Given the description of an element on the screen output the (x, y) to click on. 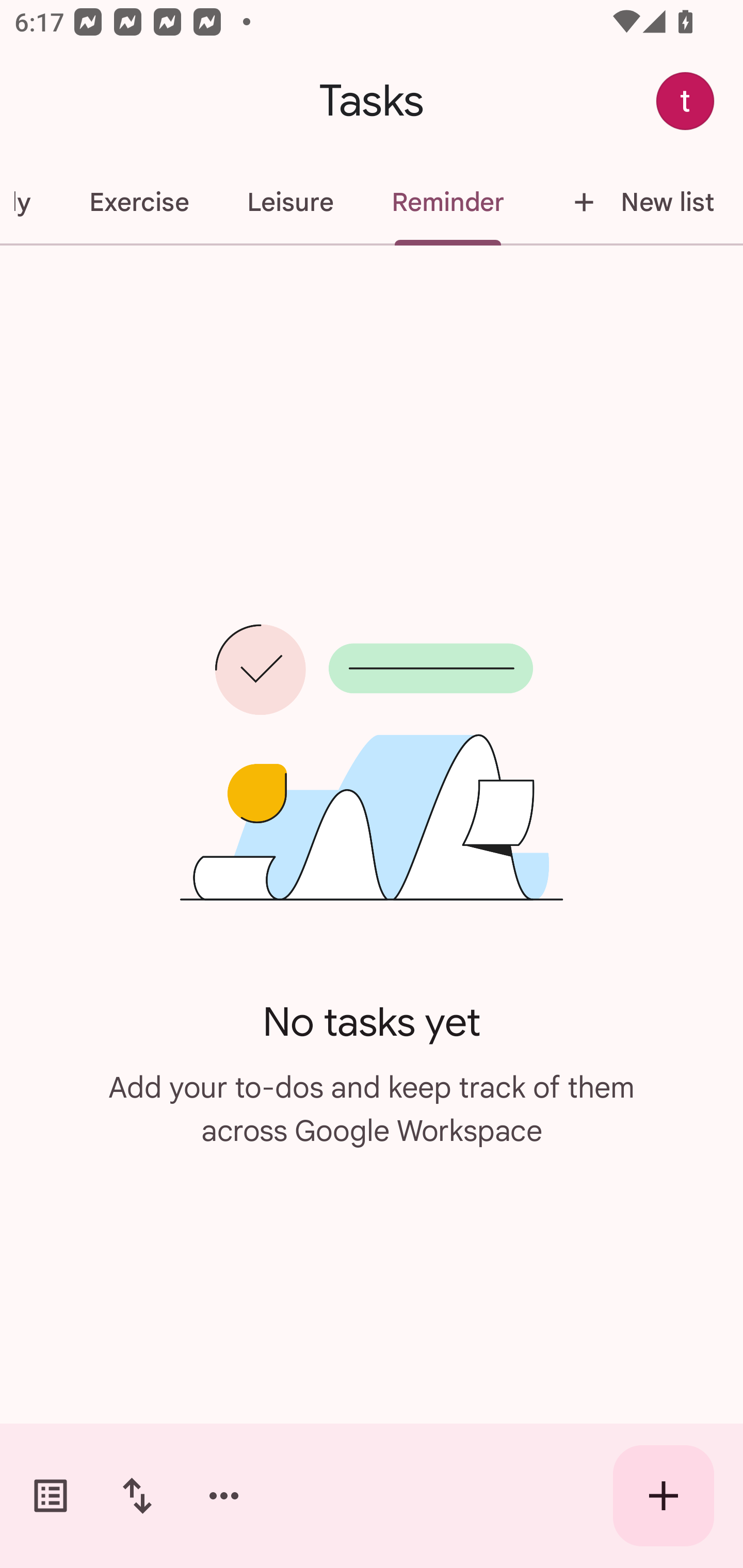
Exercise (138, 202)
Leisure (289, 202)
New list (638, 202)
Switch task lists (50, 1495)
Create new task (663, 1495)
Change sort order (136, 1495)
More options (223, 1495)
